Given the description of an element on the screen output the (x, y) to click on. 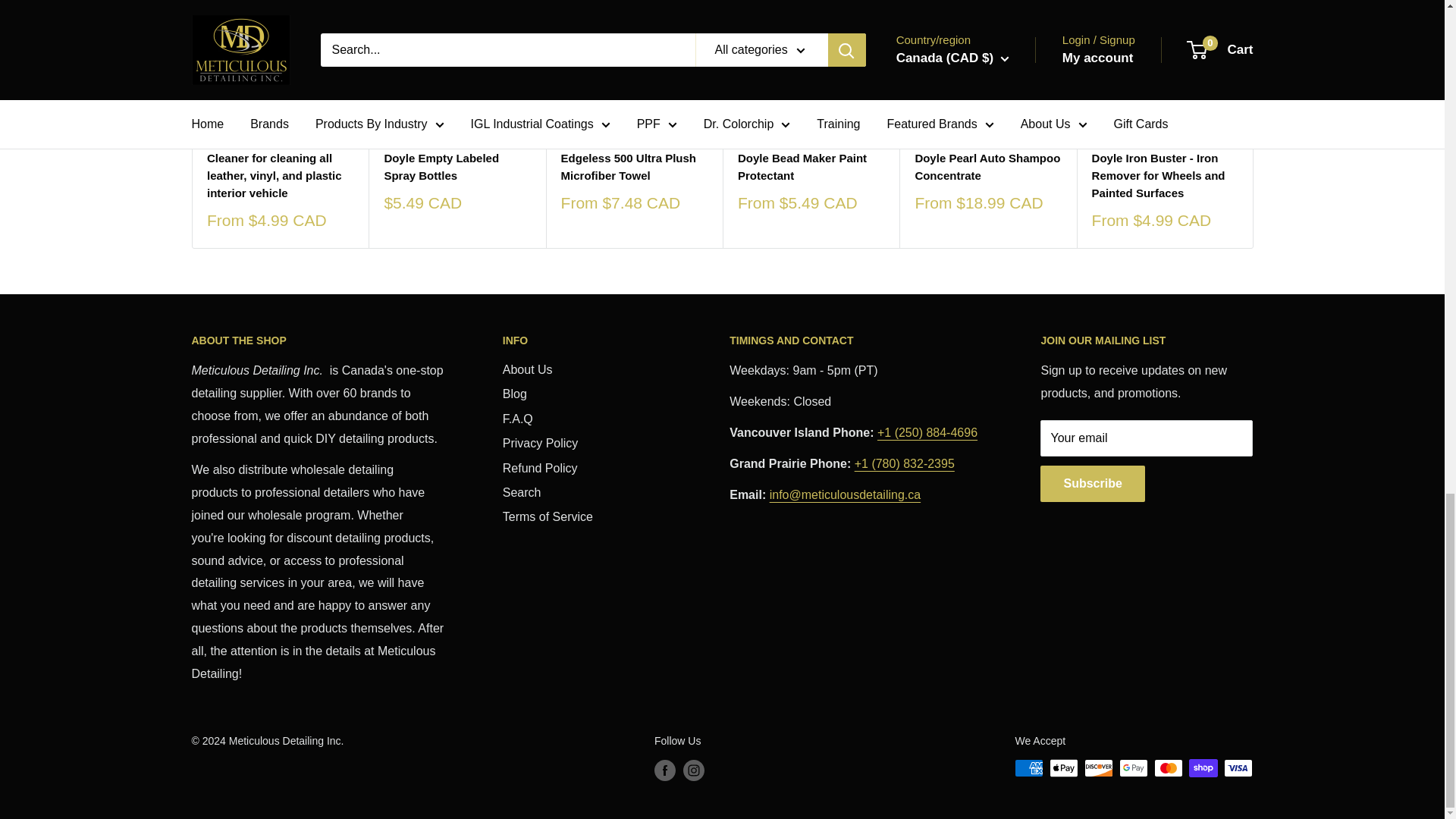
tel:2508844696 (926, 431)
tel:7808322395 (904, 463)
